Given the description of an element on the screen output the (x, y) to click on. 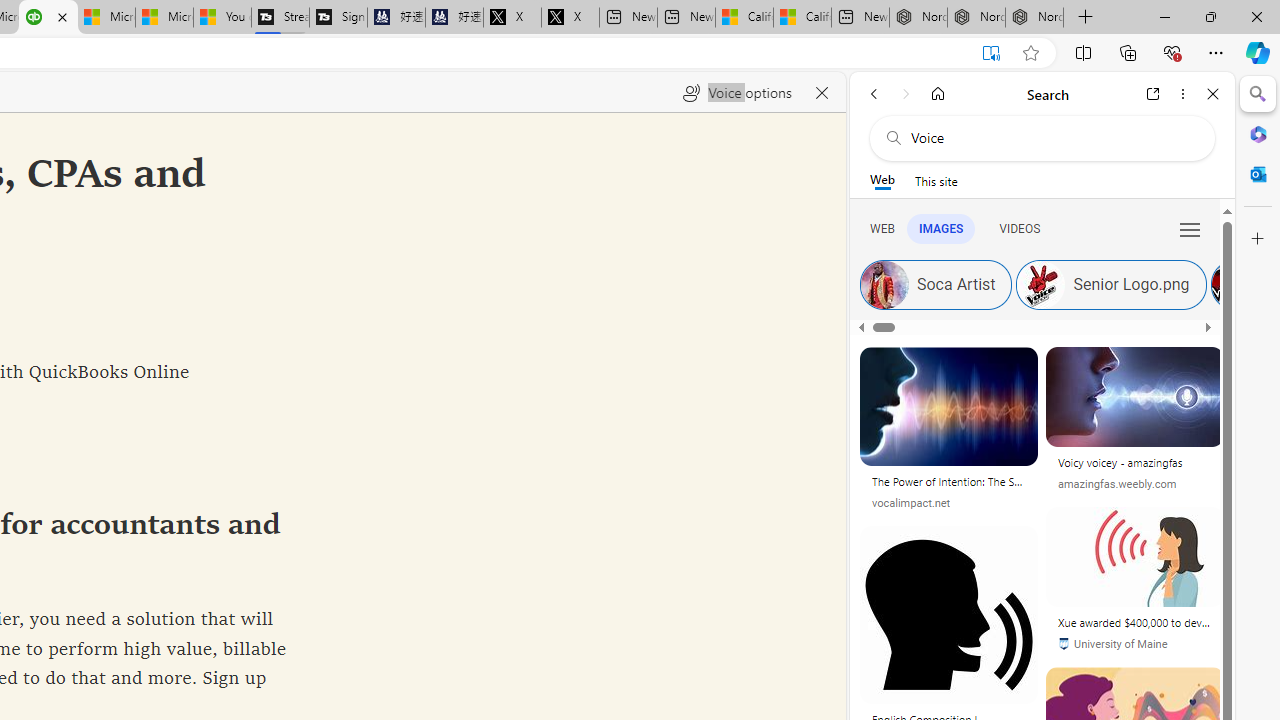
Voicy voicey - amazingfas (1135, 465)
X (570, 17)
Soca Artist (936, 284)
Forward (906, 93)
Exit Immersive Reader (F9) (991, 53)
Preferences (1189, 228)
Outlook (1258, 174)
Web scope (882, 180)
amazingfas.weebly.com (1135, 484)
This site scope (936, 180)
